Given the description of an element on the screen output the (x, y) to click on. 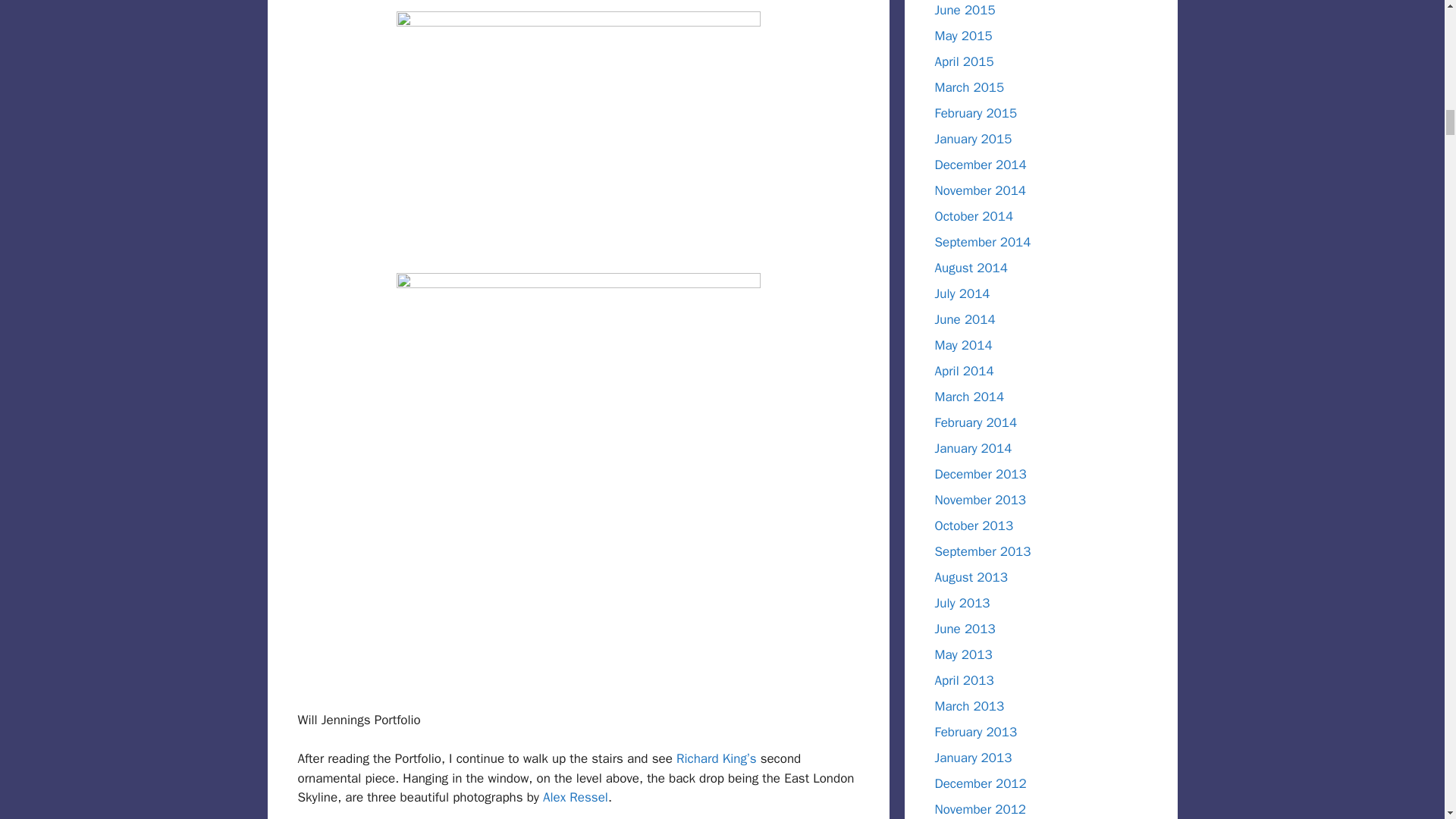
Alex Ressel (575, 797)
